Given the description of an element on the screen output the (x, y) to click on. 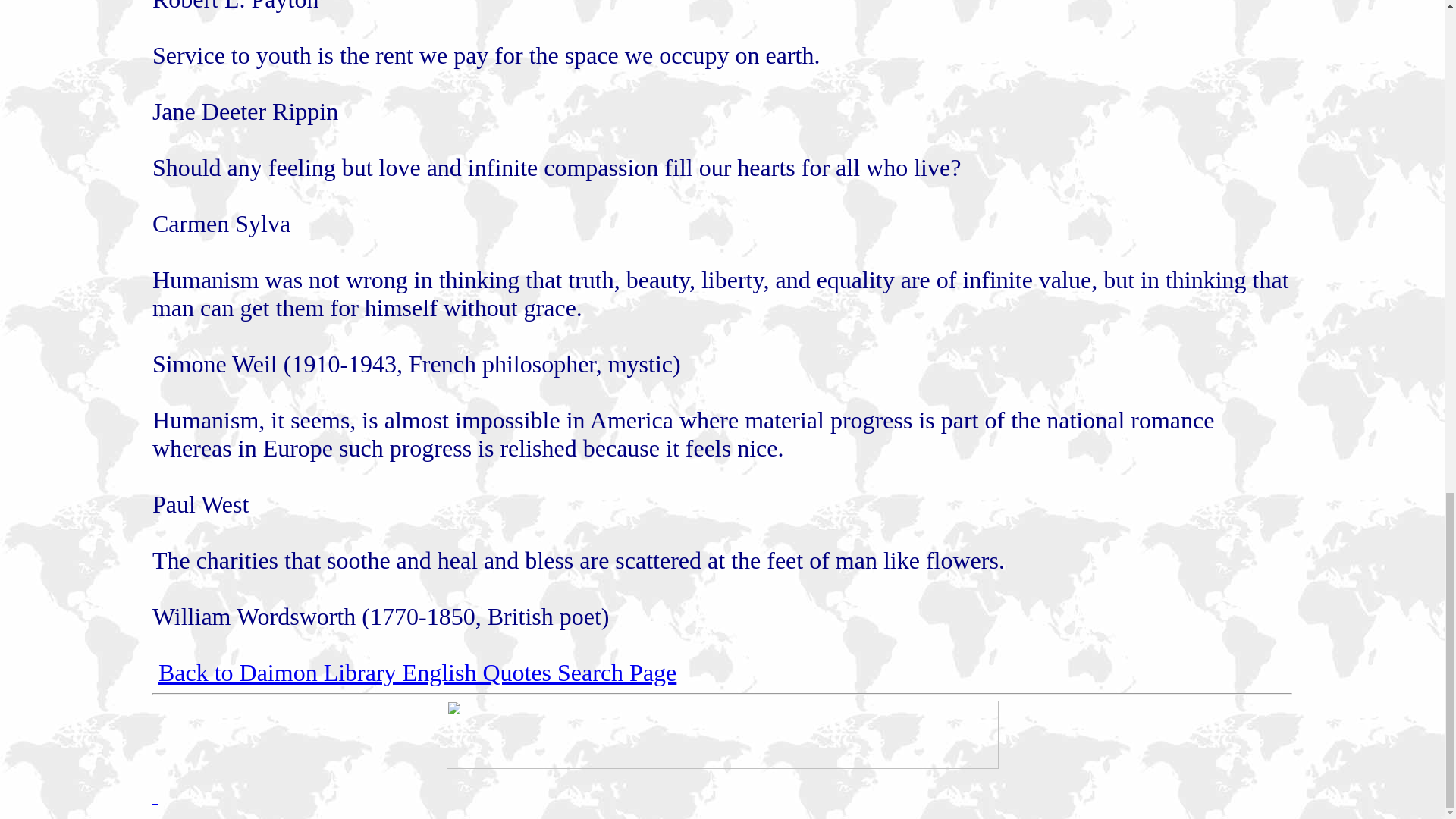
Fort attack blog project (721, 764)
Back to Daimon Library English Quotes Search Page (417, 672)
